Given the description of an element on the screen output the (x, y) to click on. 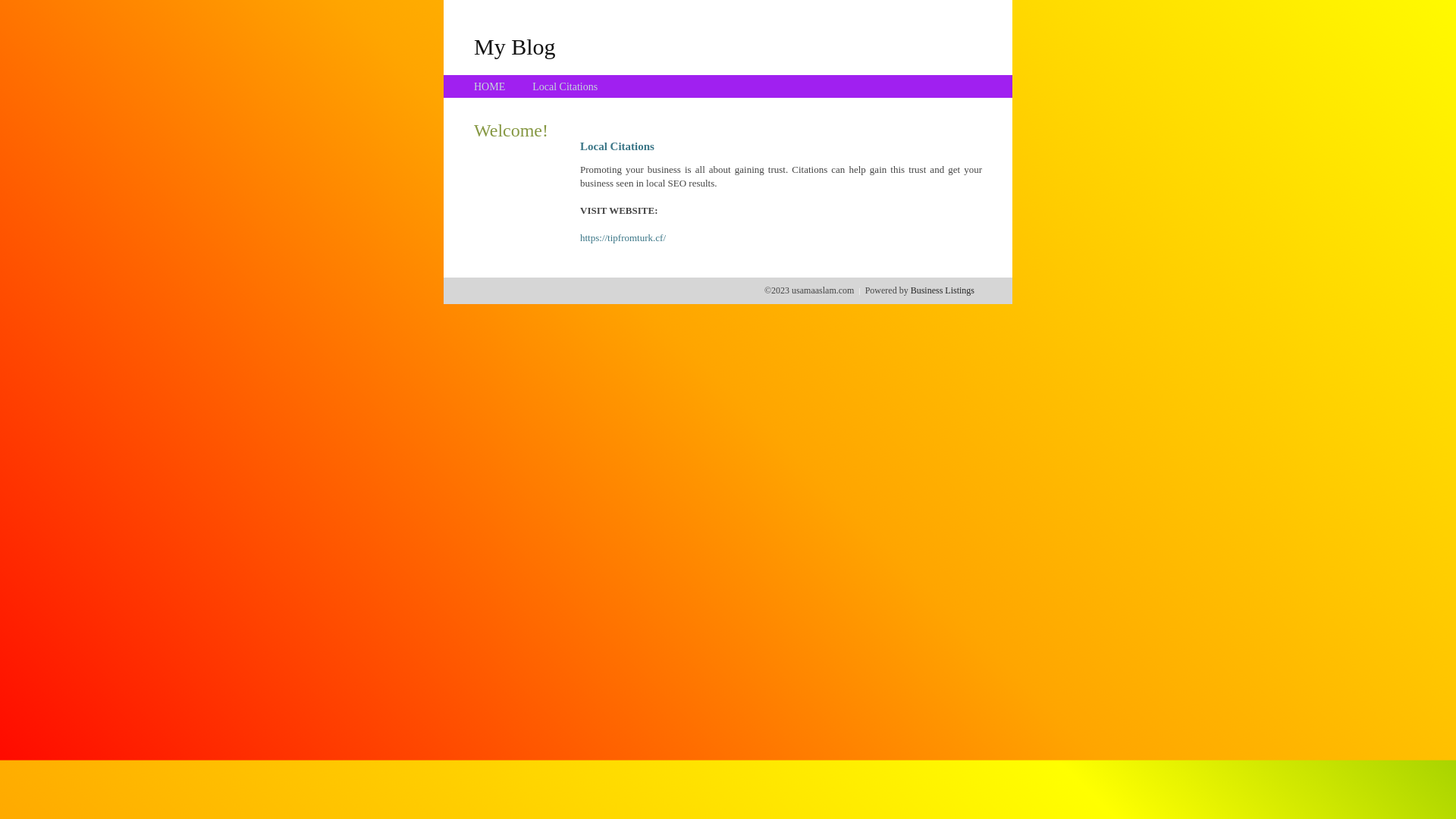
My Blog Element type: text (514, 46)
https://tipfromturk.cf/ Element type: text (622, 237)
HOME Element type: text (489, 86)
Local Citations Element type: text (564, 86)
Business Listings Element type: text (942, 290)
